Given the description of an element on the screen output the (x, y) to click on. 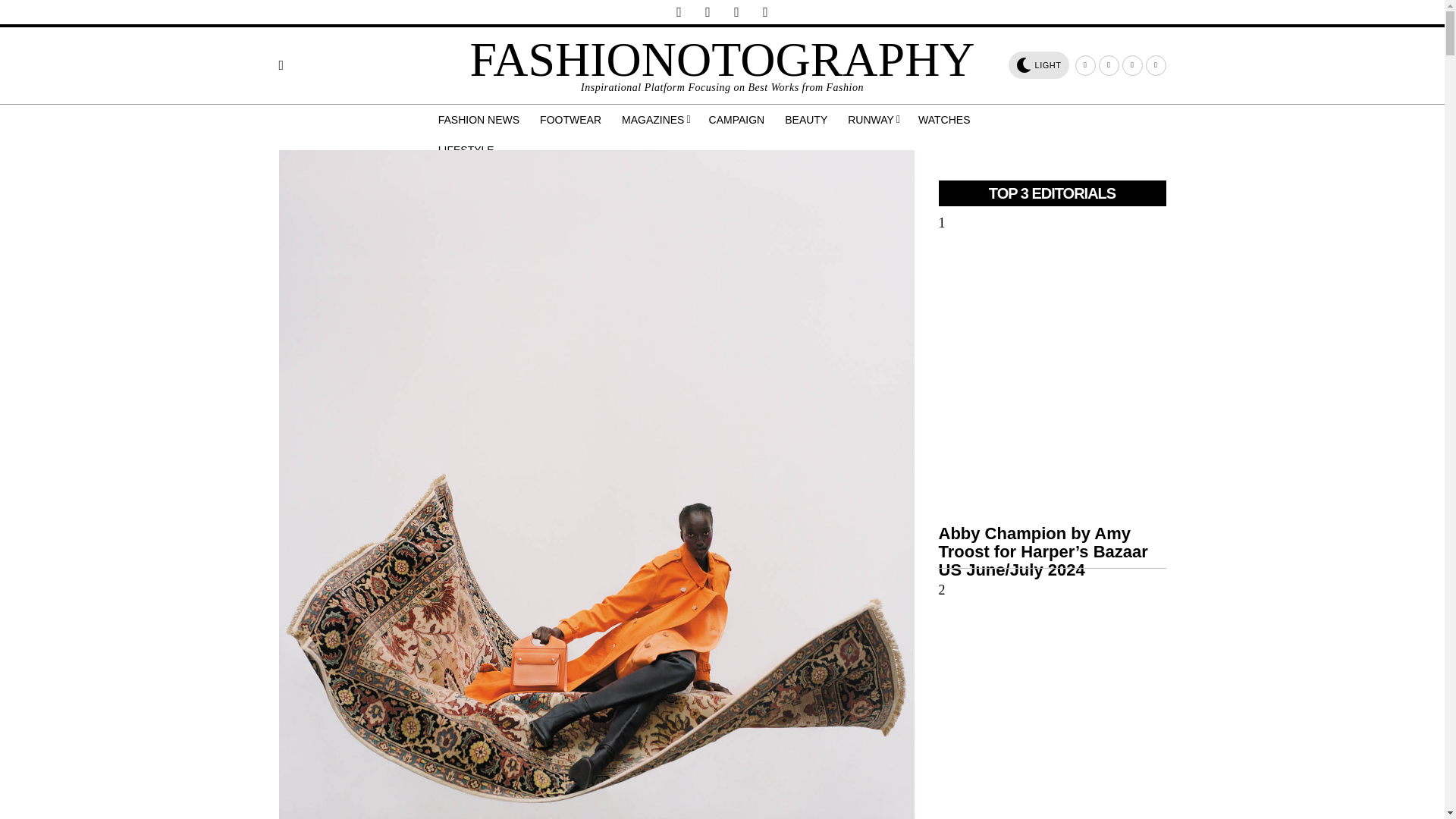
FOOTWEAR (571, 119)
CAMPAIGN (738, 119)
BEAUTY (807, 119)
FASHION NEWS (480, 119)
MAGAZINES (656, 119)
WATCHES (944, 119)
LIFESTYLE (467, 150)
RUNWAY (873, 119)
FASHIONOTOGRAPHY (721, 59)
